Given the description of an element on the screen output the (x, y) to click on. 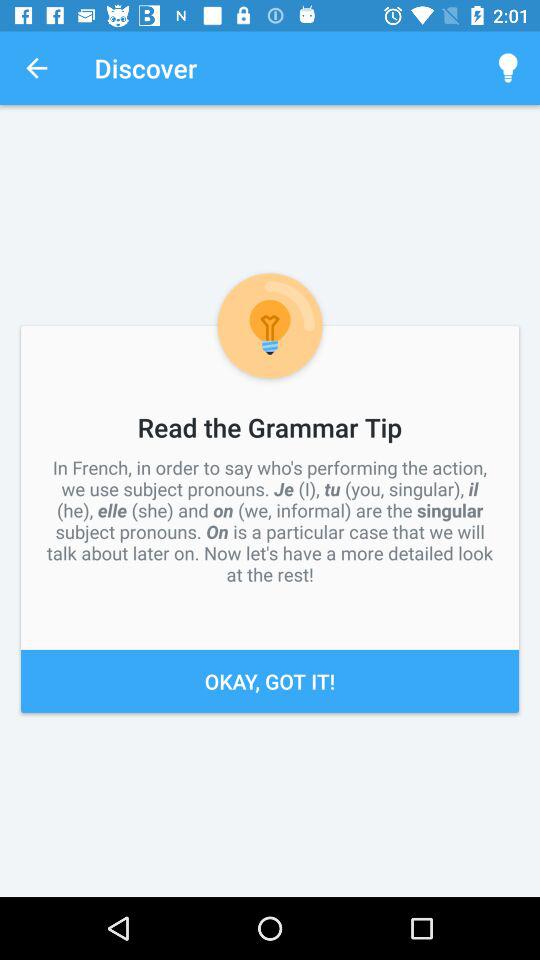
click icon to the left of the discover (36, 68)
